Given the description of an element on the screen output the (x, y) to click on. 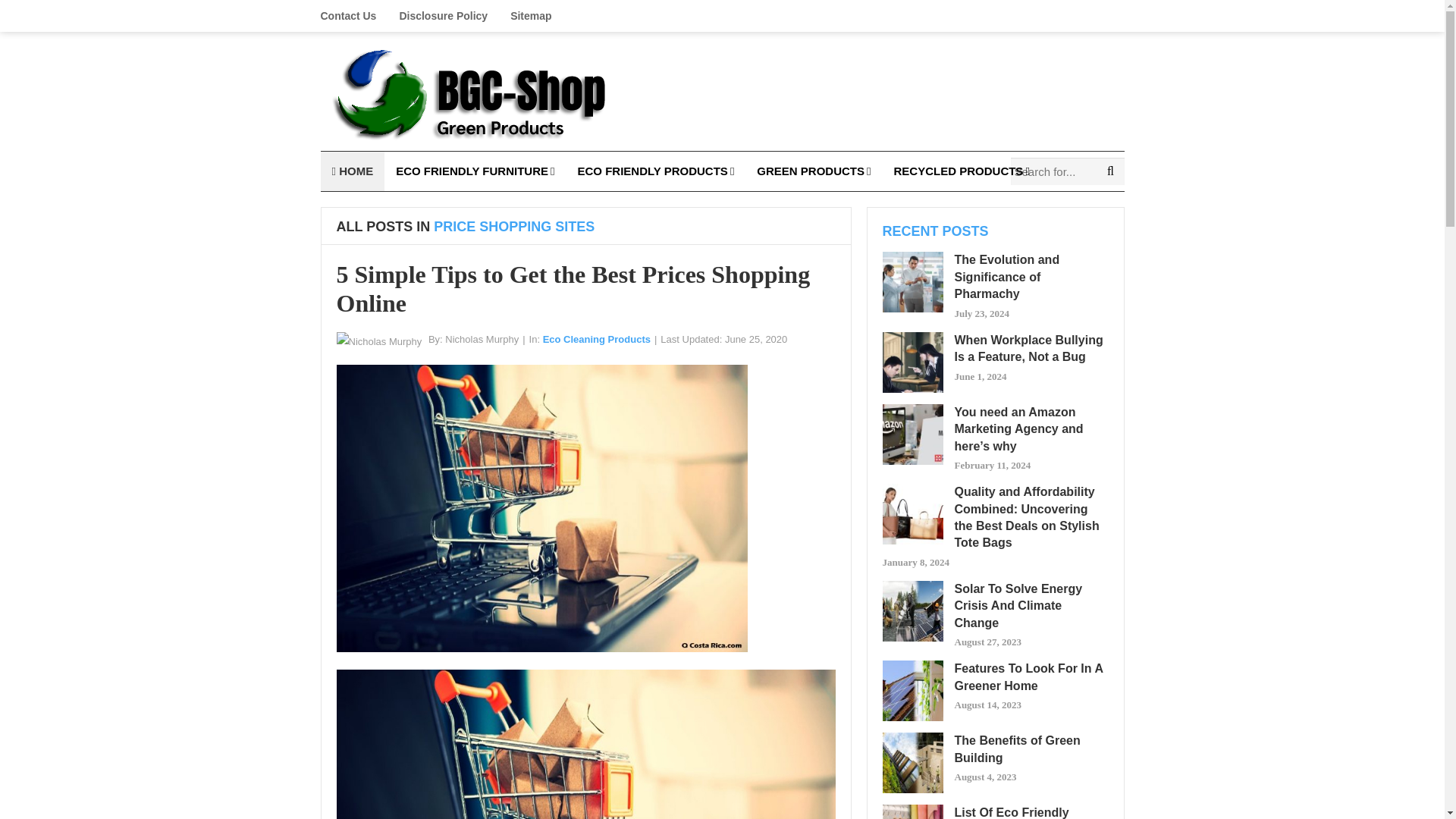
Disclosure Policy (443, 15)
Contact Us (353, 15)
HOME (352, 170)
ECO FRIENDLY FURNITURE (475, 170)
Sitemap (530, 15)
